Given the description of an element on the screen output the (x, y) to click on. 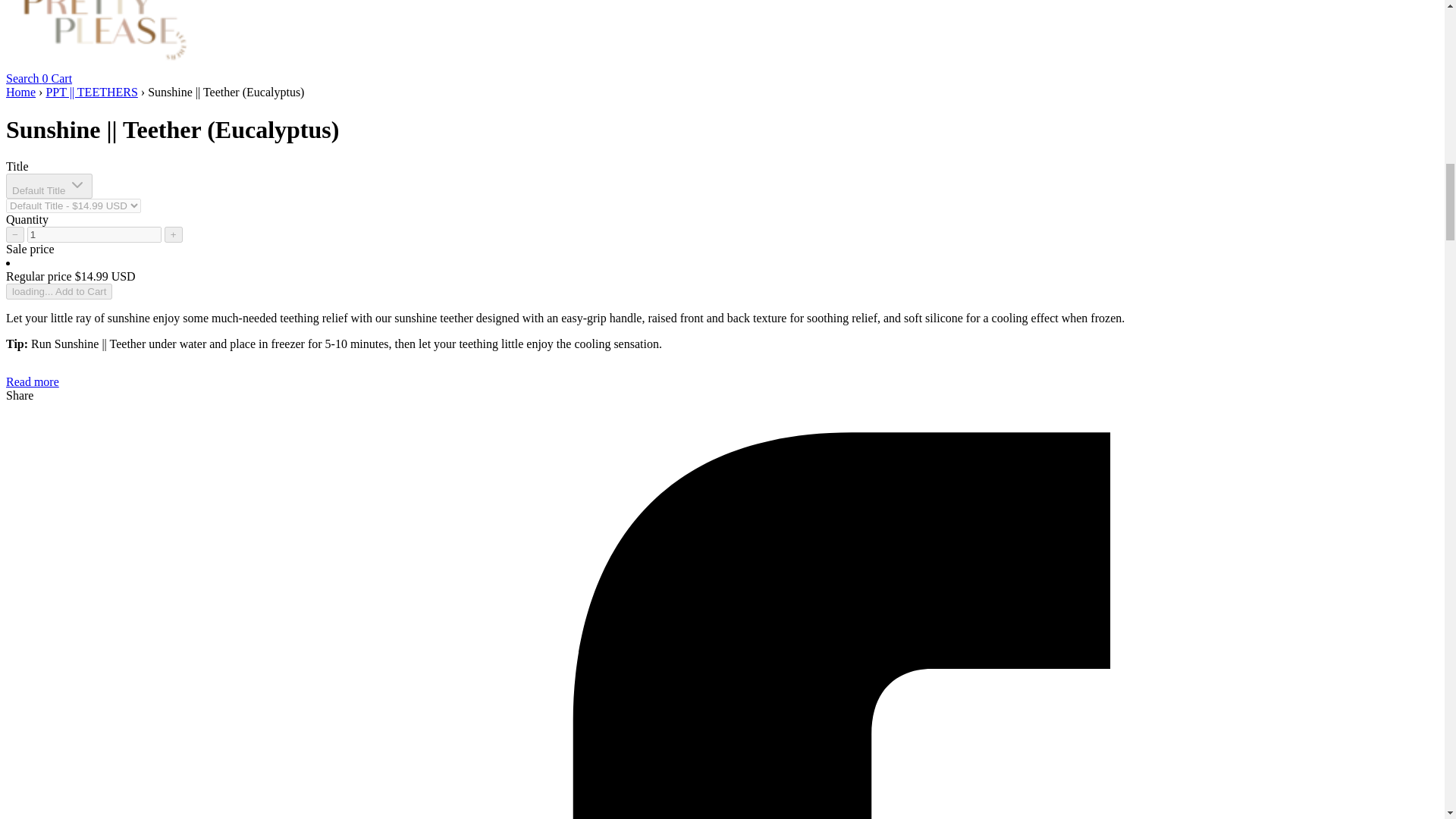
1 (94, 234)
Back to the frontpage (19, 91)
